Given the description of an element on the screen output the (x, y) to click on. 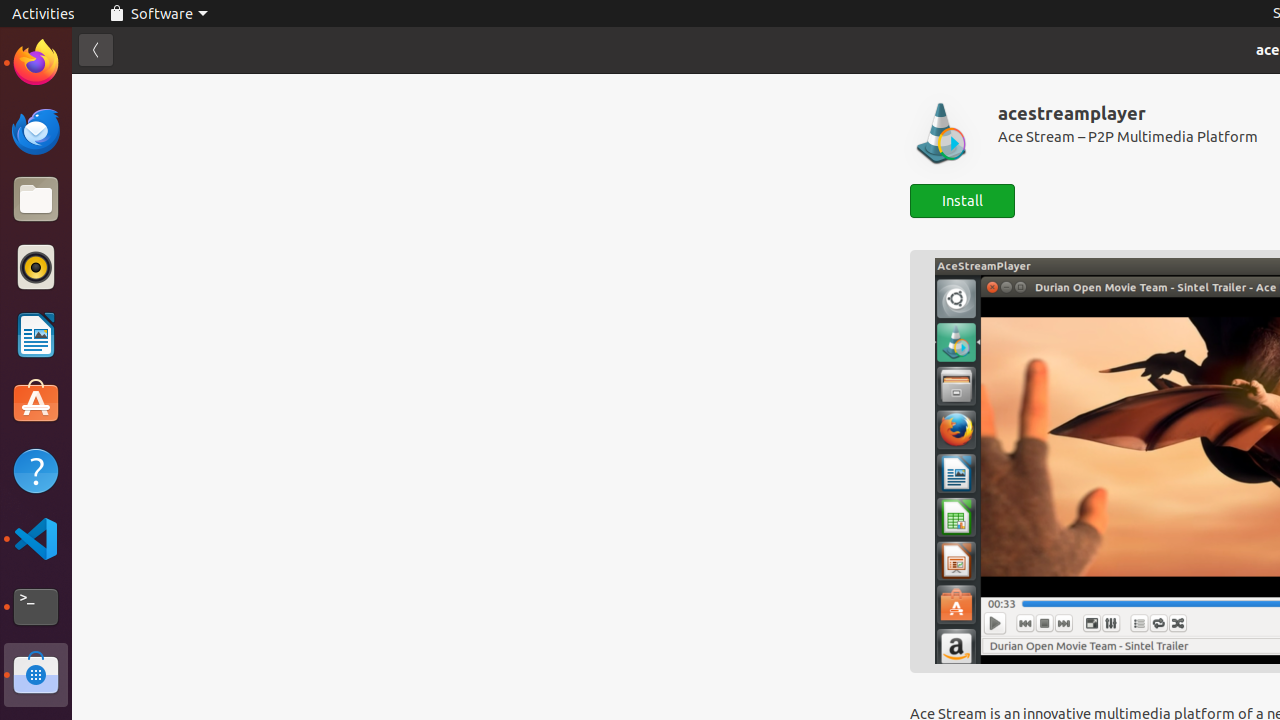
Activities Element type: label (43, 13)
Install Element type: push-button (962, 200)
li.txt Element type: label (259, 89)
